Given the description of an element on the screen output the (x, y) to click on. 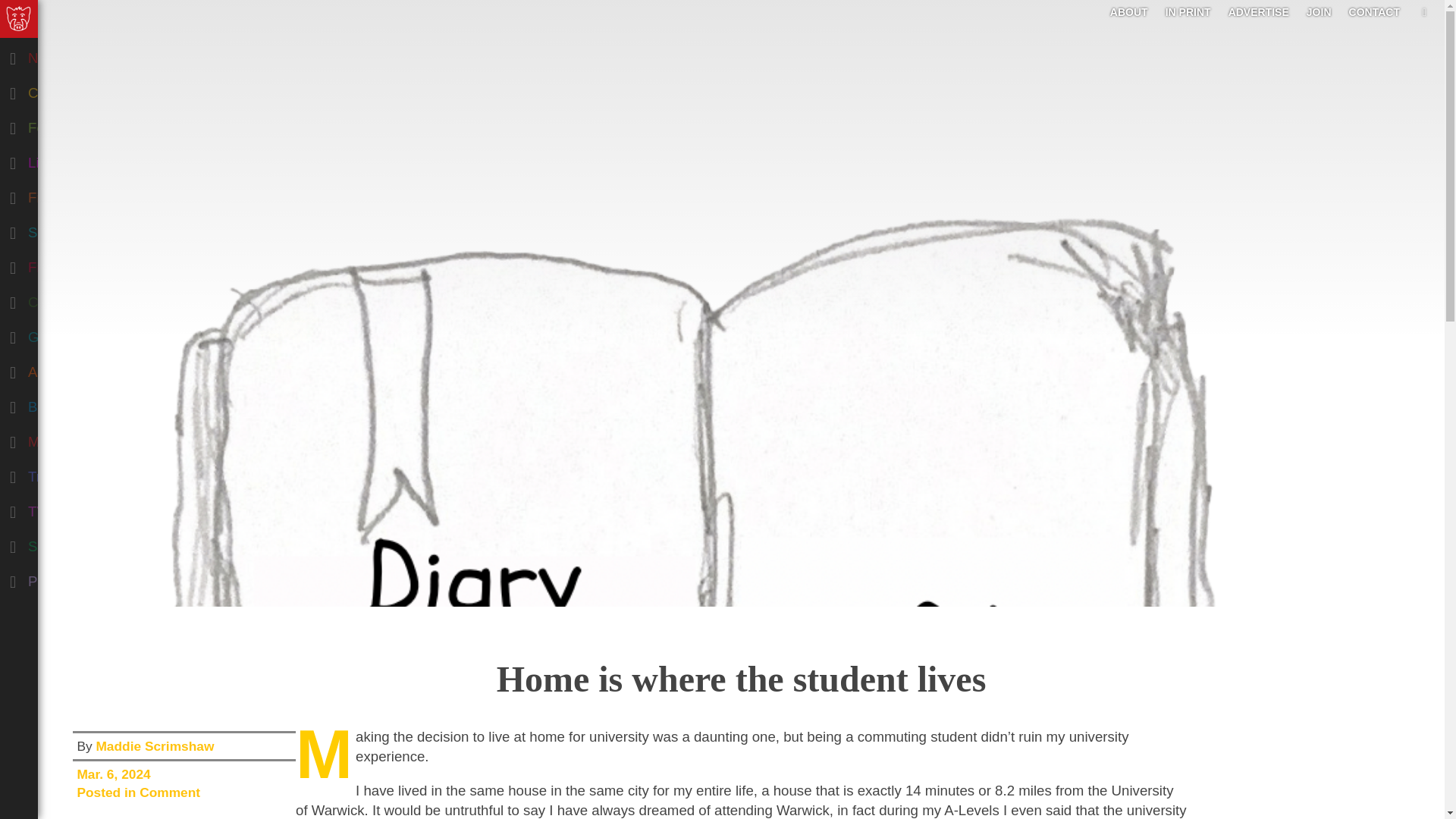
Music (79, 438)
CONTACT (1374, 11)
Podcasts (79, 578)
Comment (79, 89)
Games (79, 334)
IN PRINT (1188, 11)
Features (79, 124)
ABOUT (1128, 11)
Books (79, 403)
JOIN (1319, 11)
